Given the description of an element on the screen output the (x, y) to click on. 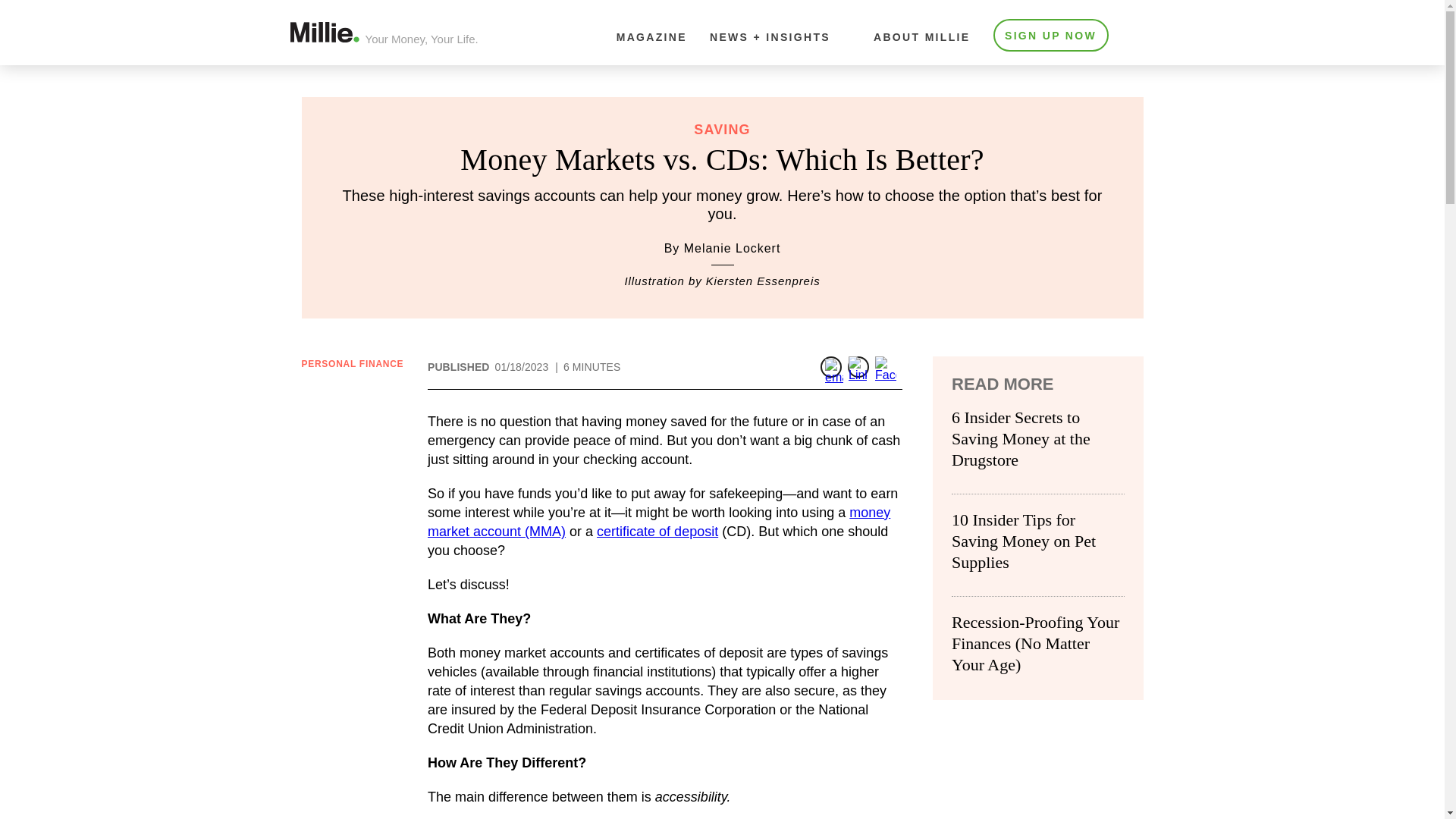
Personal Finance (352, 363)
certificate of deposit (656, 531)
PERSONAL FINANCE (352, 363)
Facebook (885, 366)
ABOUT MILLIE (922, 37)
MAGAZINE (651, 37)
linkedin (858, 366)
SIGN UP NOW (1050, 34)
email (831, 366)
